Given the description of an element on the screen output the (x, y) to click on. 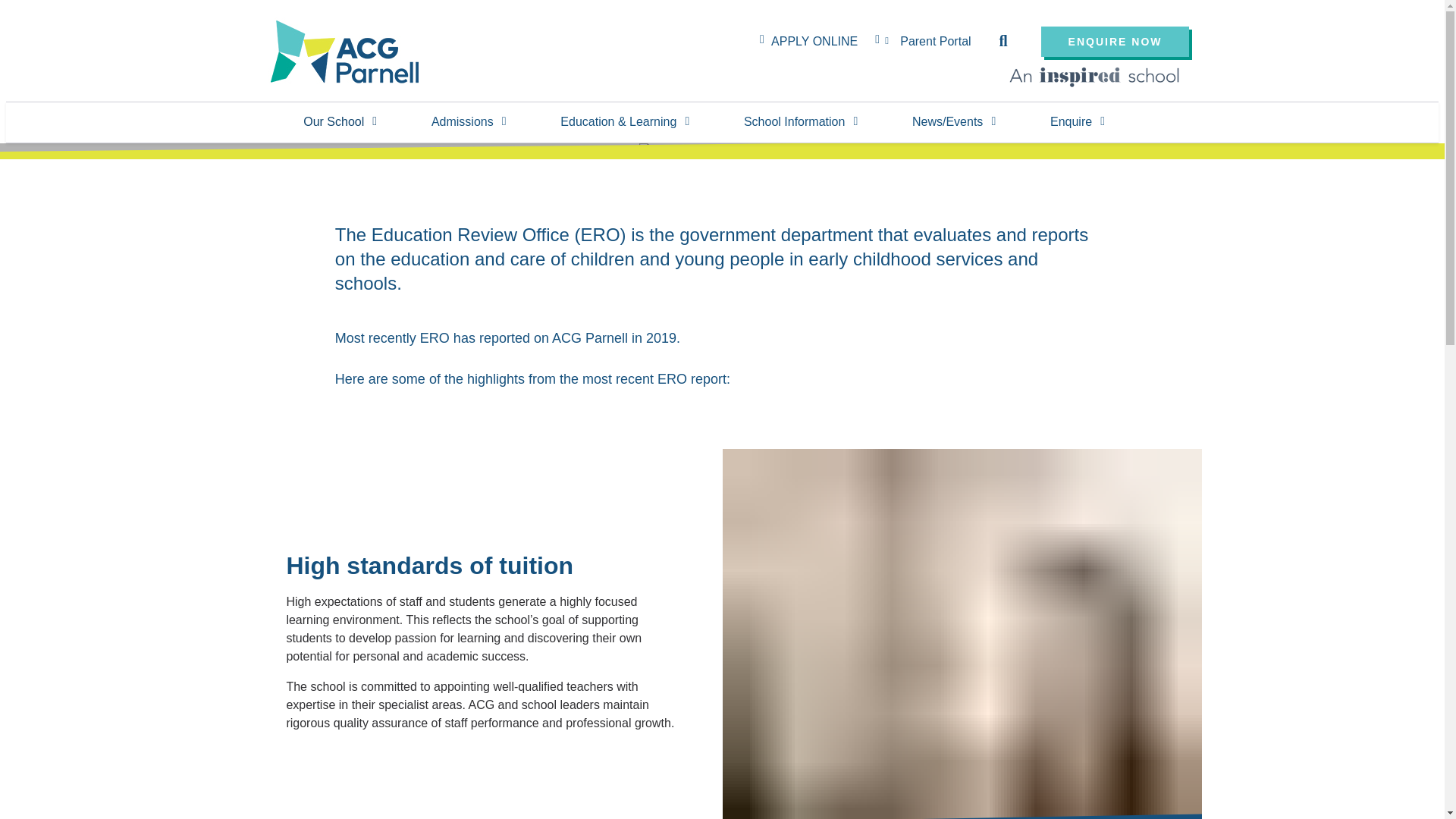
Parent Portal (936, 41)
Search Icon (1006, 41)
ACG Parnell College - Auckland (345, 51)
Admissions (467, 122)
APPLY ONLINE (813, 41)
Skip to main content (721, 3)
ENQUIRE NOW (1115, 41)
Our School (338, 122)
